Given the description of an element on the screen output the (x, y) to click on. 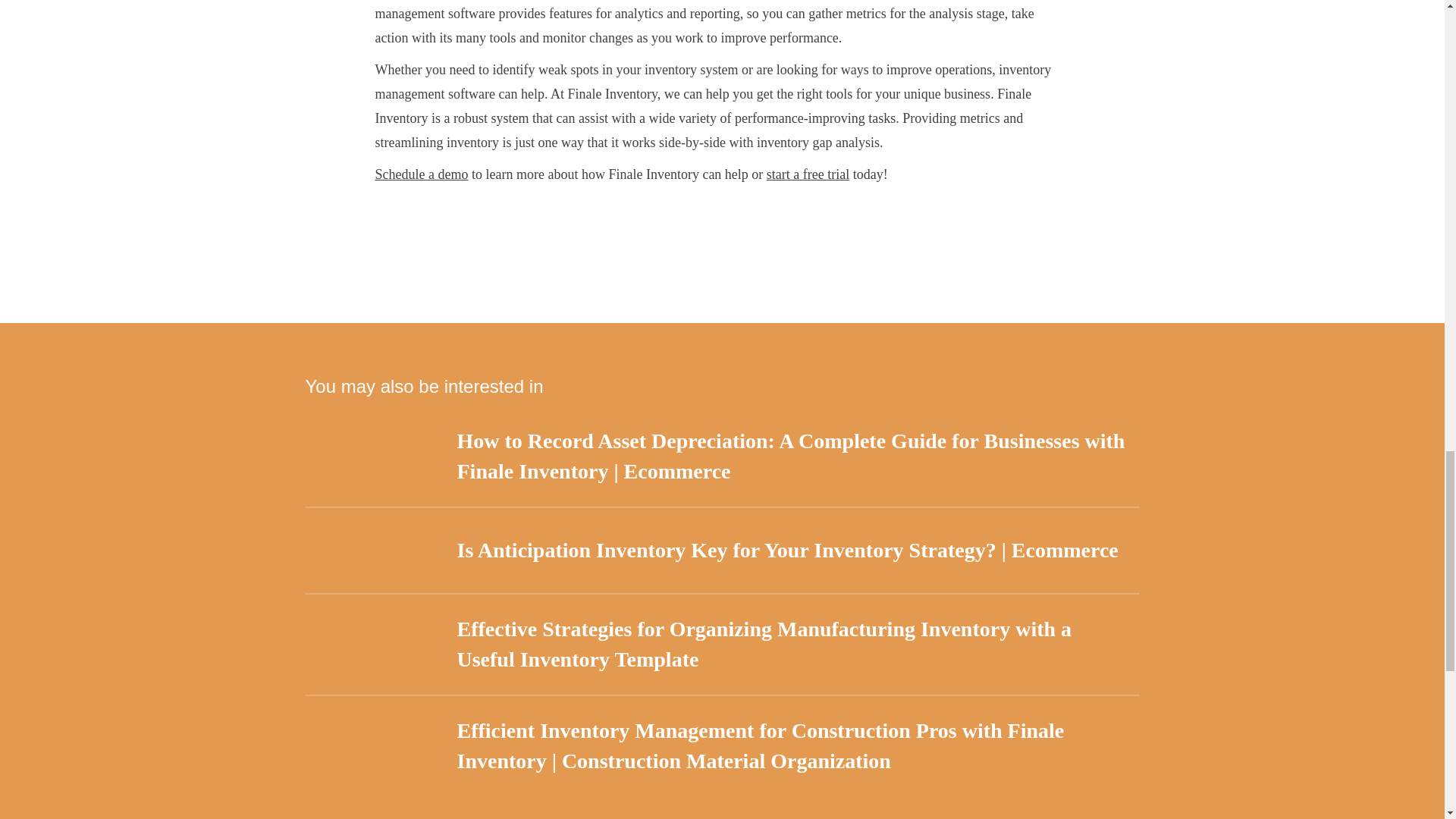
Schedule a demo (420, 174)
start a free trial (807, 174)
